Given the description of an element on the screen output the (x, y) to click on. 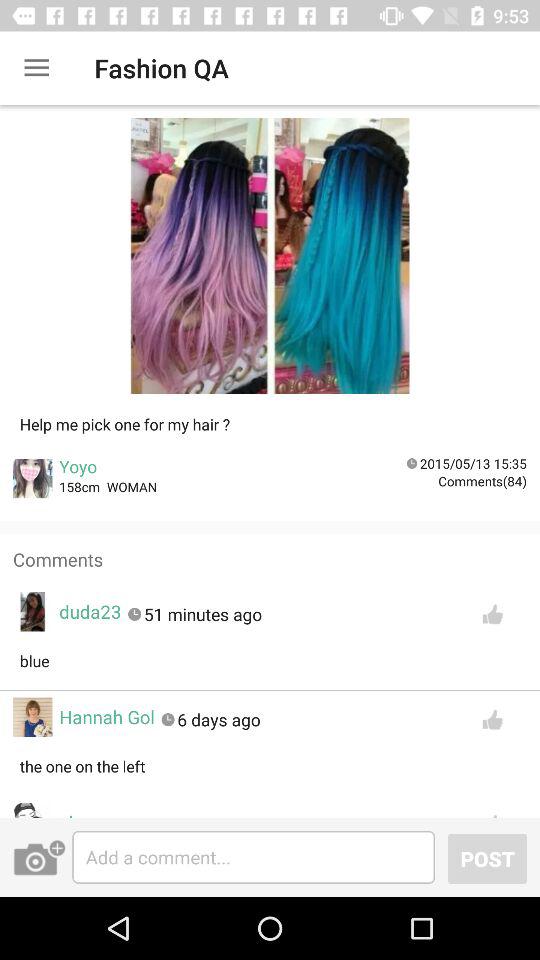
open camera (39, 857)
